Given the description of an element on the screen output the (x, y) to click on. 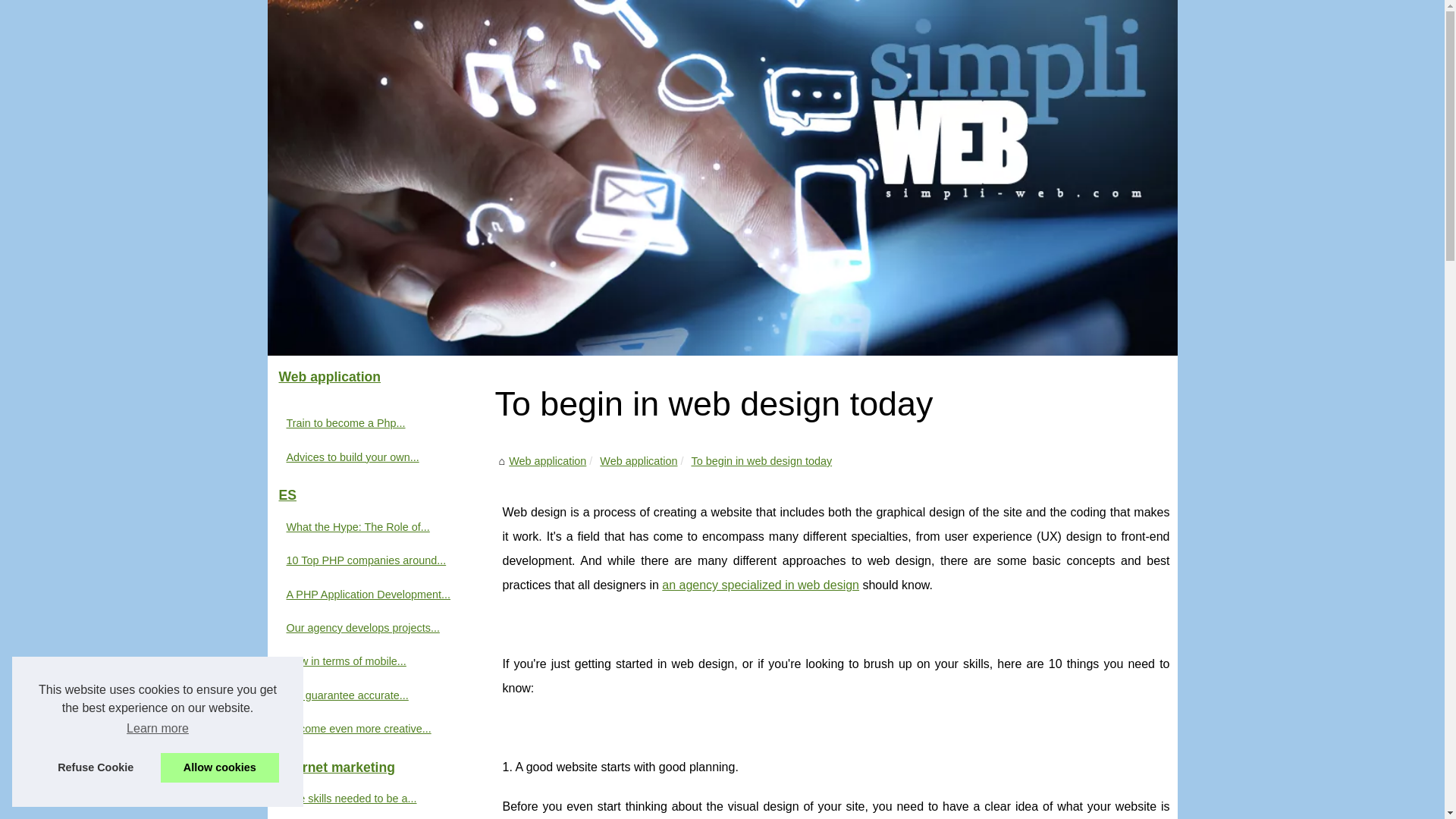
10 Top PHP companies around... (373, 560)
Allow cookies (219, 767)
Web application (638, 460)
Advices to build your own... (373, 456)
Internet marketing (380, 767)
What the Hype: The Role of... (373, 526)
Advices to build your own application ! (373, 456)
New in terms of mobile... (373, 660)
Train to become a Php programmer (373, 423)
ES (380, 495)
Refuse Cookie (95, 767)
Web application (638, 460)
an agency specialized in web design (760, 584)
A PHP Application Development... (373, 594)
an agency specialized in web design (760, 584)
